Given the description of an element on the screen output the (x, y) to click on. 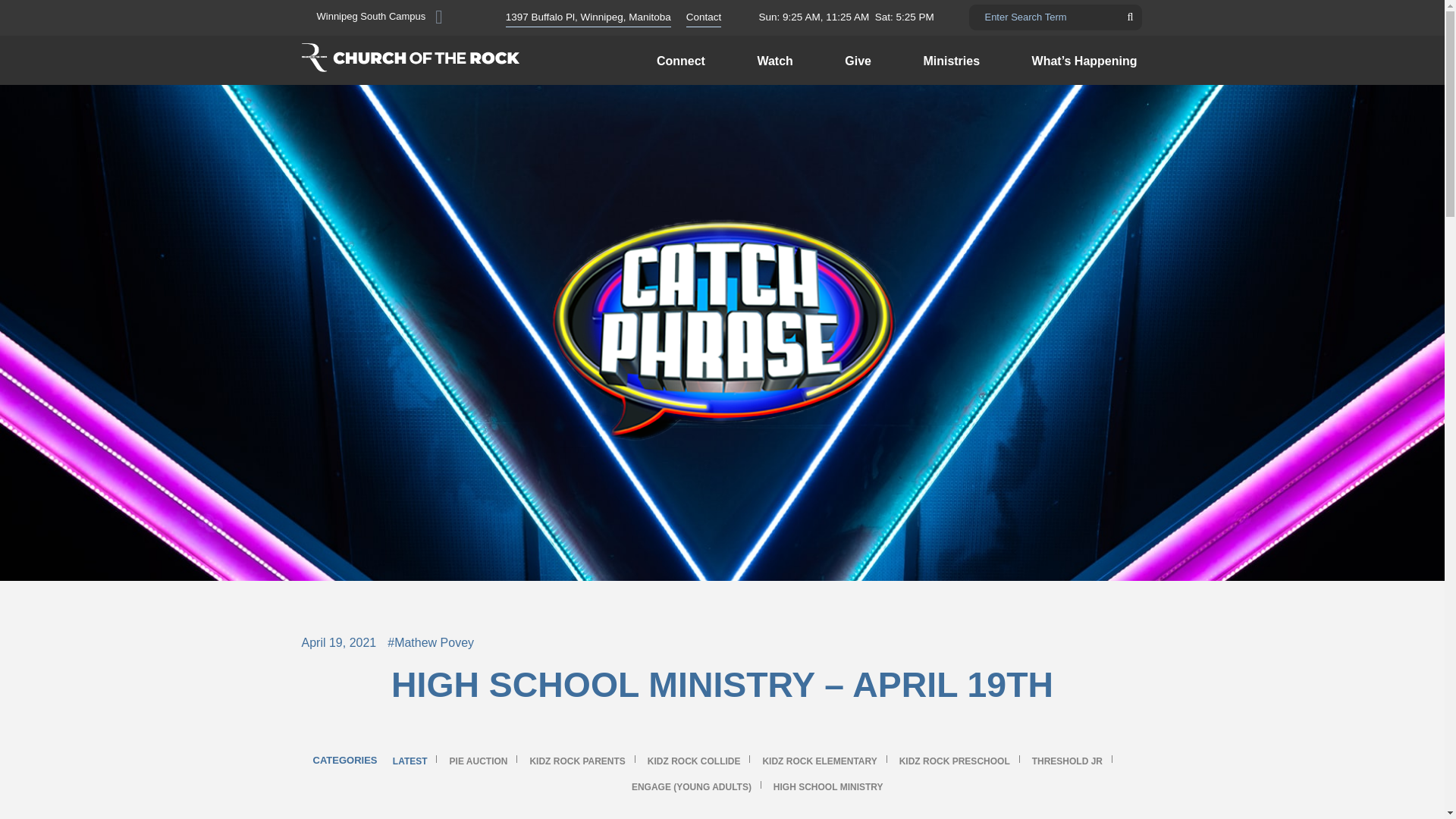
Connect (680, 59)
Watch (774, 59)
Ministries (951, 59)
1397 Buffalo Pl, Winnipeg, Manitoba (588, 17)
Give (857, 59)
Contact (703, 17)
Winnipeg South Campus (379, 16)
Church of The Rock (410, 56)
